Given the description of an element on the screen output the (x, y) to click on. 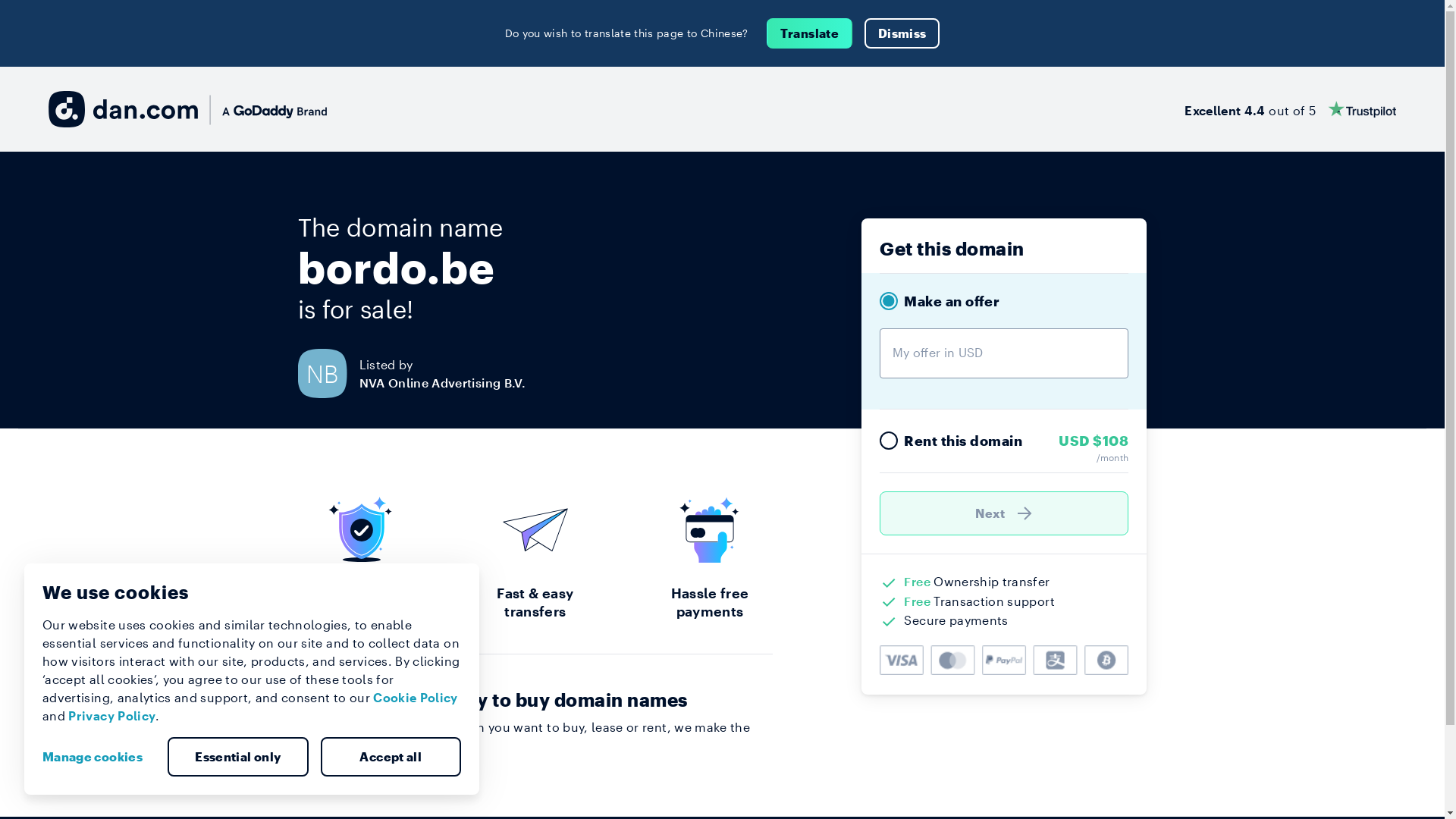
Essential only Element type: text (237, 756)
Excellent 4.4 out of 5 Element type: text (1290, 109)
Dismiss Element type: text (901, 33)
Accept all Element type: text (390, 756)
Manage cookies Element type: text (98, 756)
Privacy Policy Element type: text (111, 715)
Next
) Element type: text (1003, 513)
Translate Element type: text (809, 33)
Cookie Policy Element type: text (415, 697)
